Given the description of an element on the screen output the (x, y) to click on. 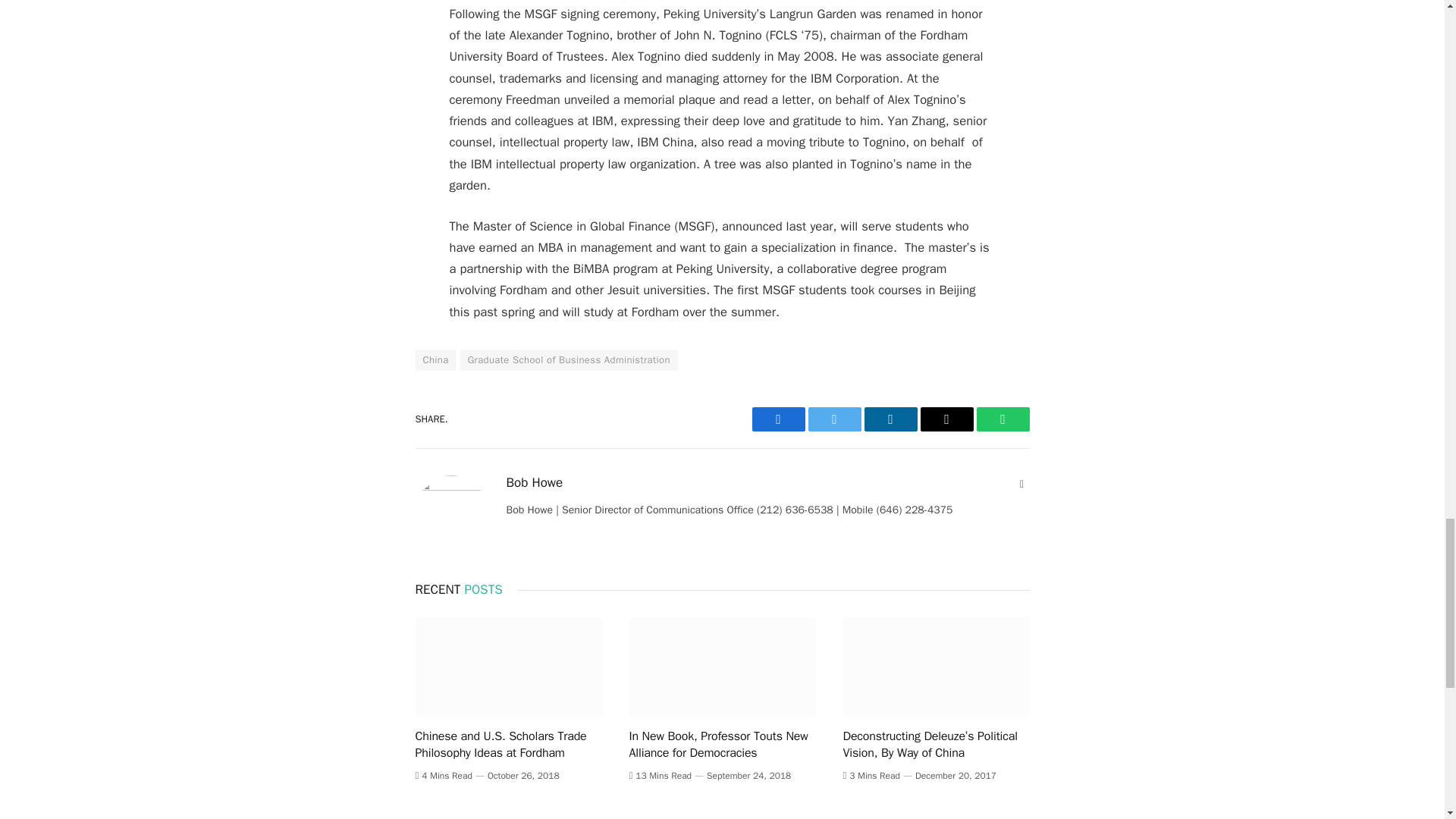
Share on LinkedIn (890, 419)
Chinese and U.S. Scholars Trade Philosophy Ideas at Fordham (508, 666)
Graduate School of Business Administration (569, 360)
Share on Facebook (778, 419)
In New Book, Professor Touts New Alliance for Democracies (721, 666)
China (435, 360)
Website (1021, 484)
Posts by Bob Howe (534, 482)
Share on WhatsApp (1002, 419)
Share via Email (947, 419)
